Given the description of an element on the screen output the (x, y) to click on. 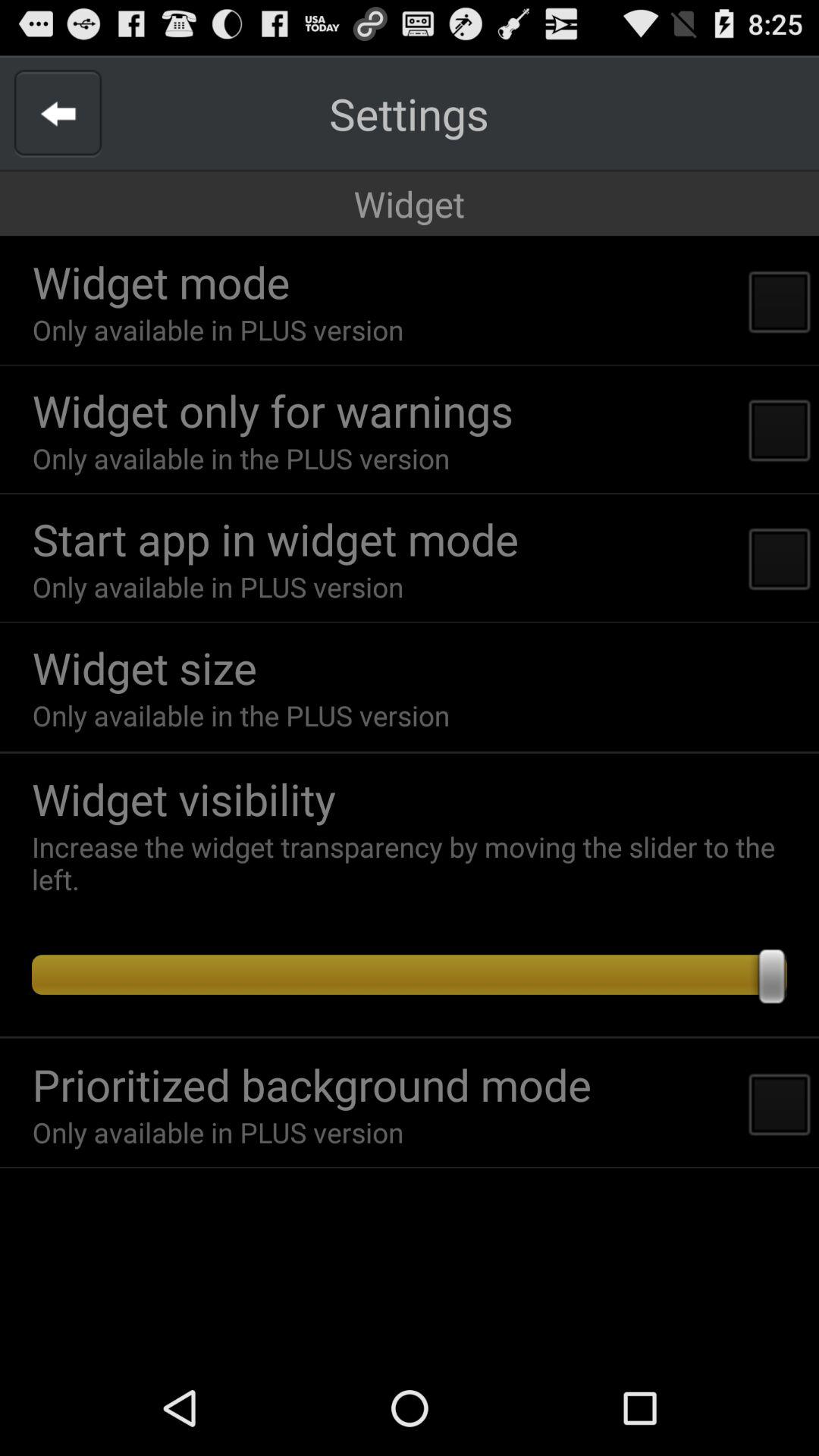
jump to settings icon (409, 112)
